Given the description of an element on the screen output the (x, y) to click on. 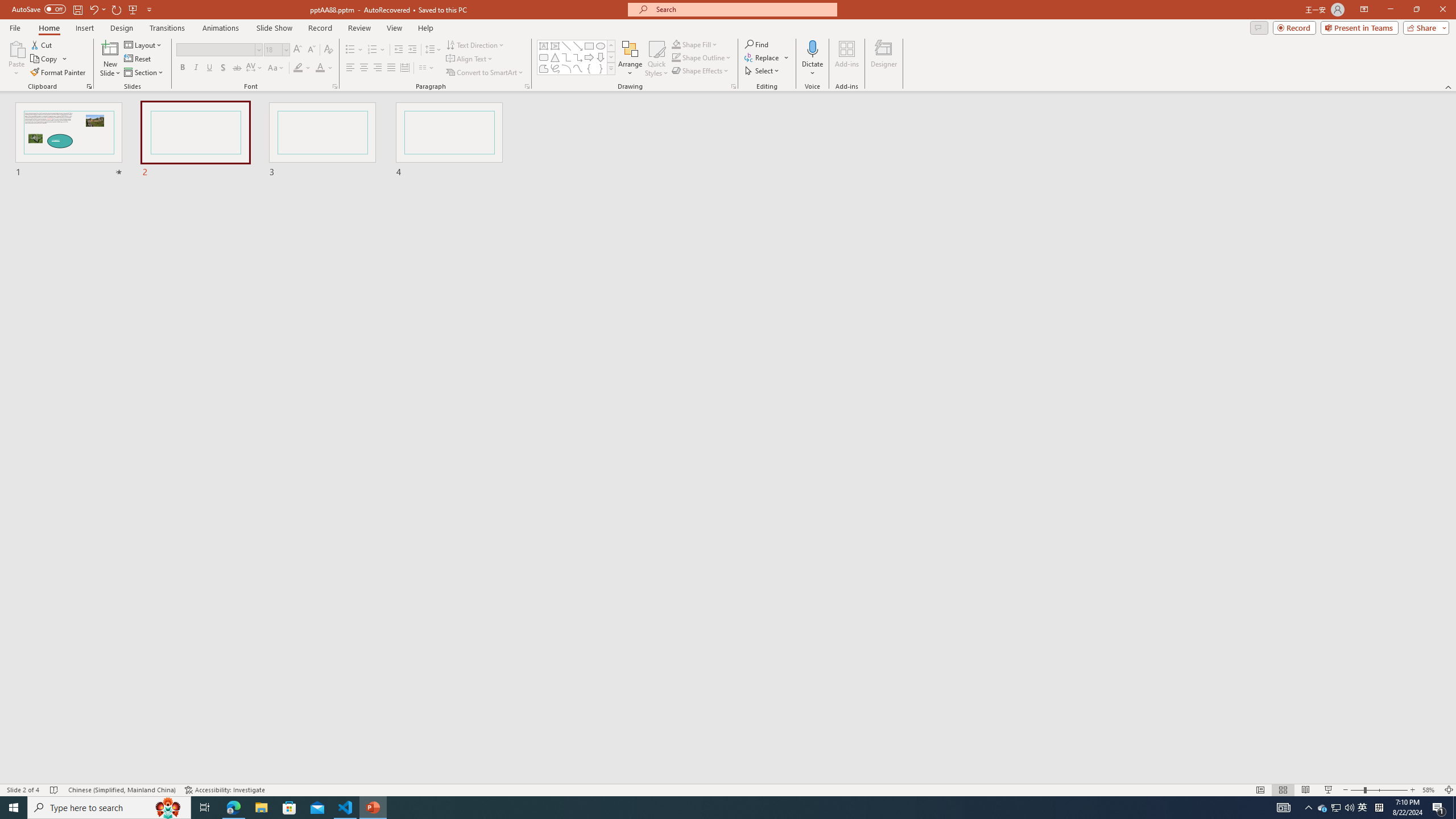
Shape Outline Teal, Accent 1 (675, 56)
